Given the description of an element on the screen output the (x, y) to click on. 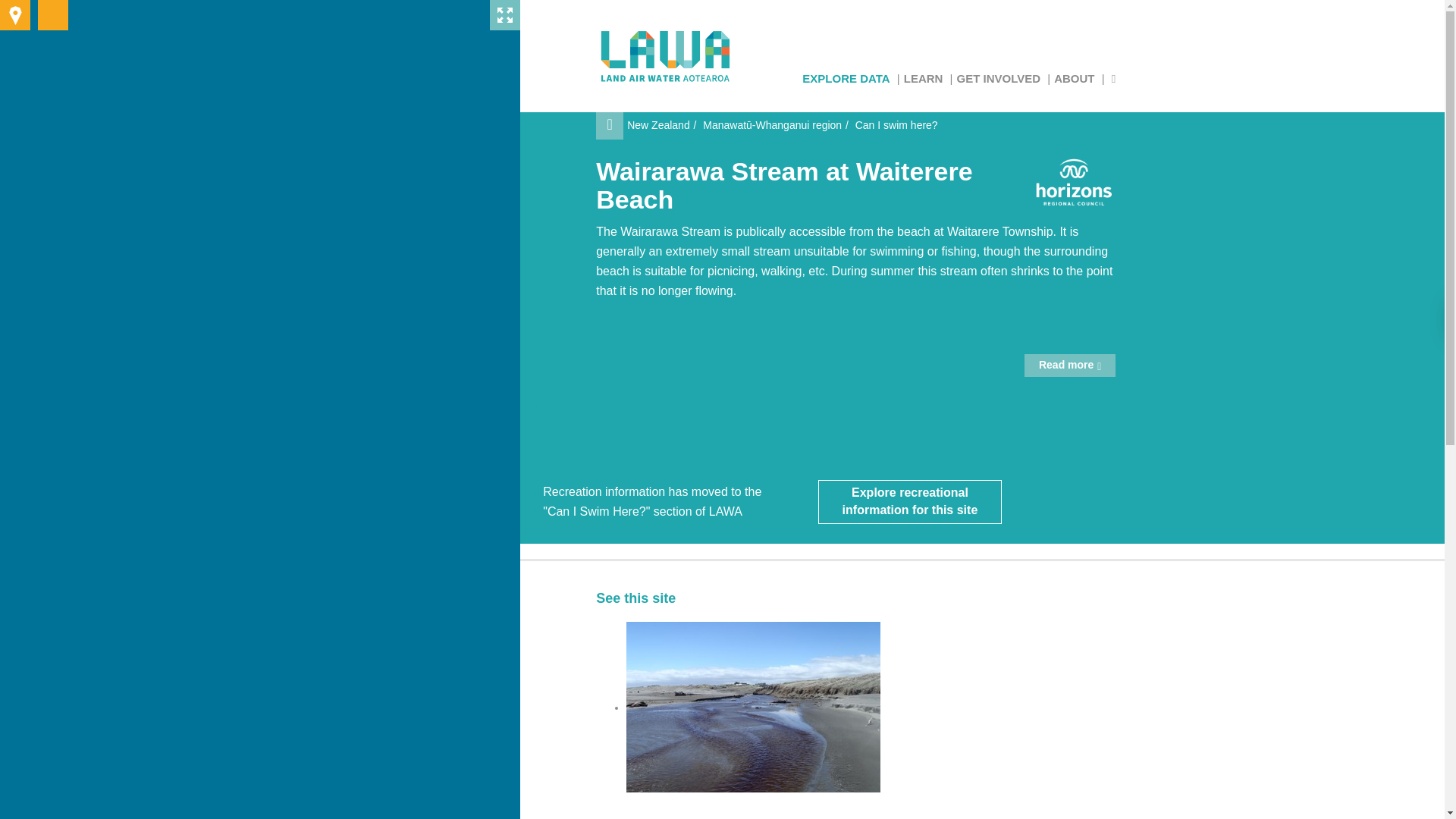
LAWA (665, 55)
LEARN (923, 77)
Horizons Regional Council (1073, 181)
GET INVOLVED (998, 77)
EXPLORE DATA (845, 77)
ABOUT (1074, 77)
